Given the description of an element on the screen output the (x, y) to click on. 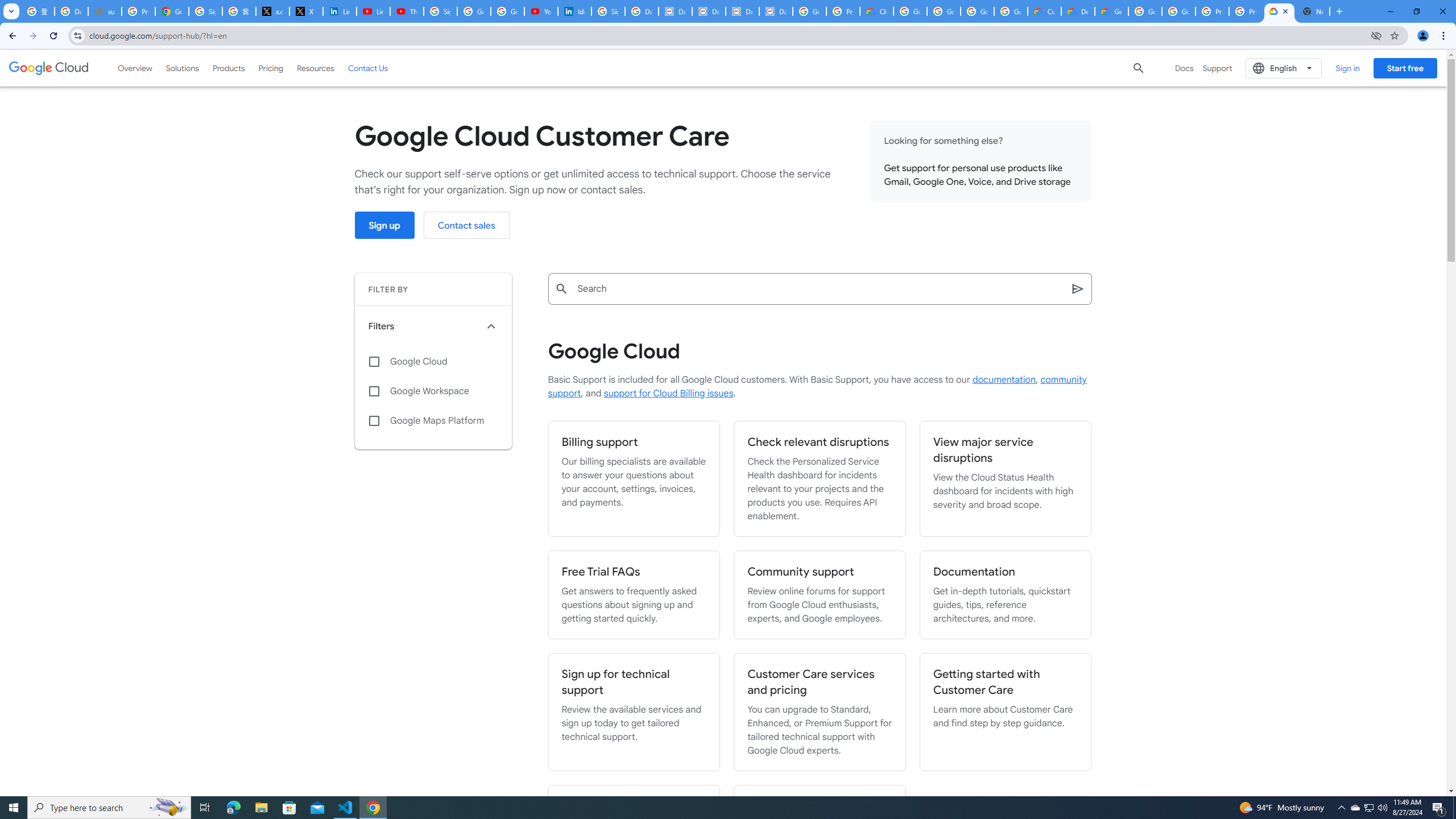
Google Workspace (432, 391)
Customer Care | Google Cloud (1043, 11)
Sign in - Google Accounts (441, 11)
Solutions (181, 67)
Data Privacy Framework (742, 11)
Cloud Data Processing Addendum | Google Cloud (876, 11)
Pricing (270, 67)
